Given the description of an element on the screen output the (x, y) to click on. 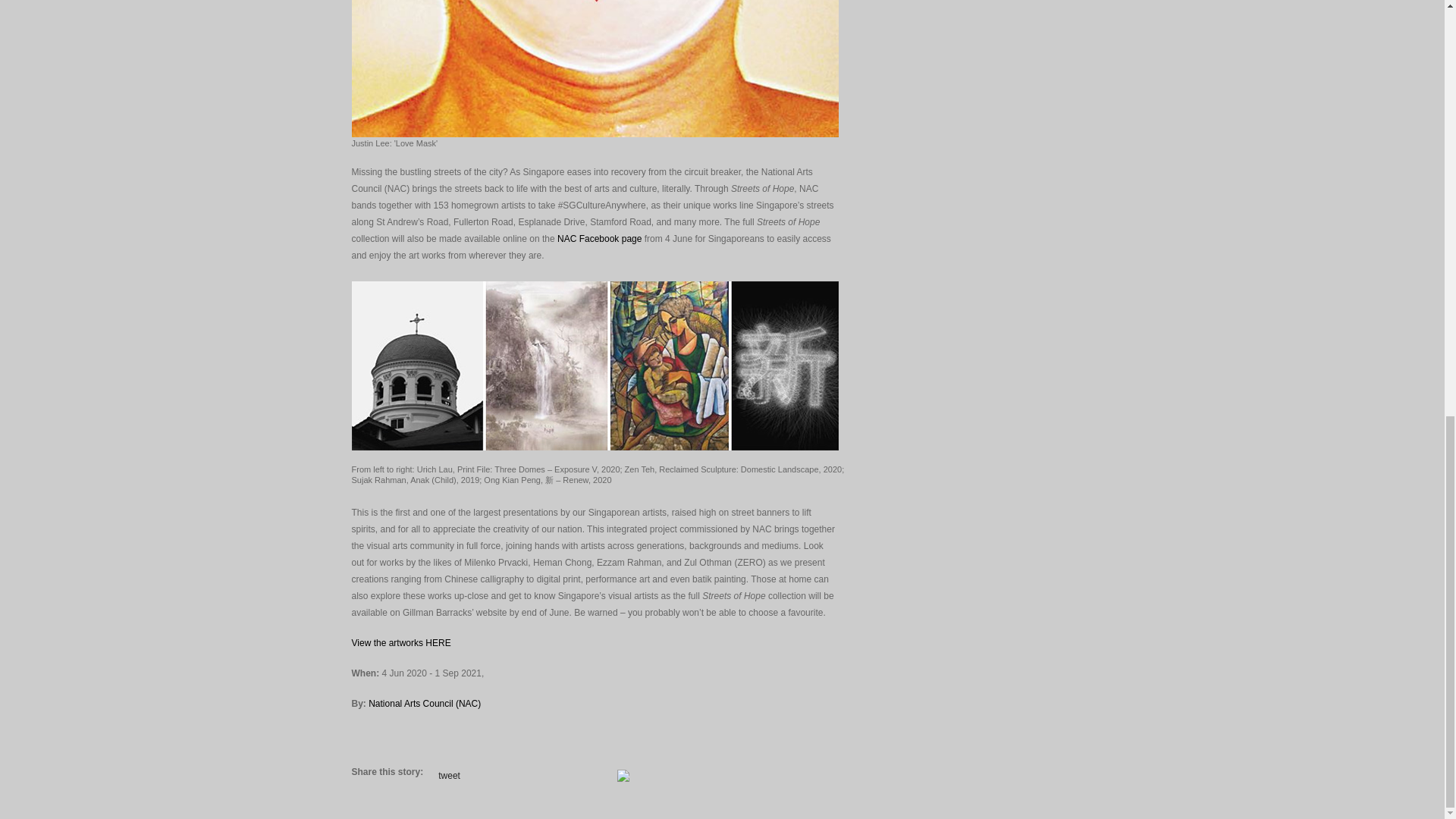
NAC Facebook page (599, 238)
tweet (449, 775)
View the artworks HERE (401, 643)
